Given the description of an element on the screen output the (x, y) to click on. 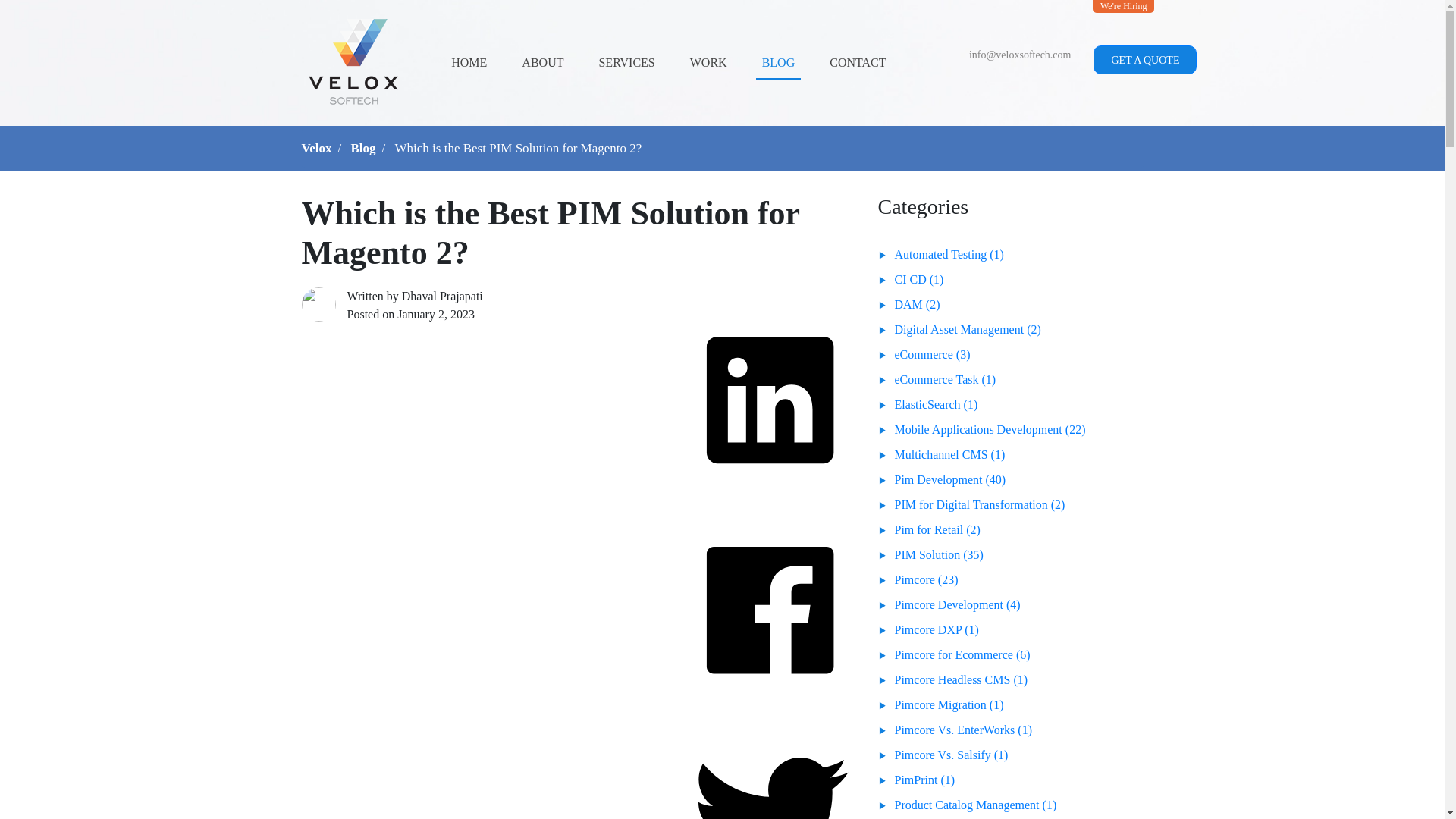
Velox (316, 147)
We're Hiring (1123, 6)
Blog (362, 147)
HOME (469, 63)
Velox Softech (352, 61)
BLOG (778, 63)
ABOUT (542, 63)
WORK (708, 63)
CONTACT (857, 63)
SERVICES (626, 63)
GET A QUOTE (1144, 59)
